Given the description of an element on the screen output the (x, y) to click on. 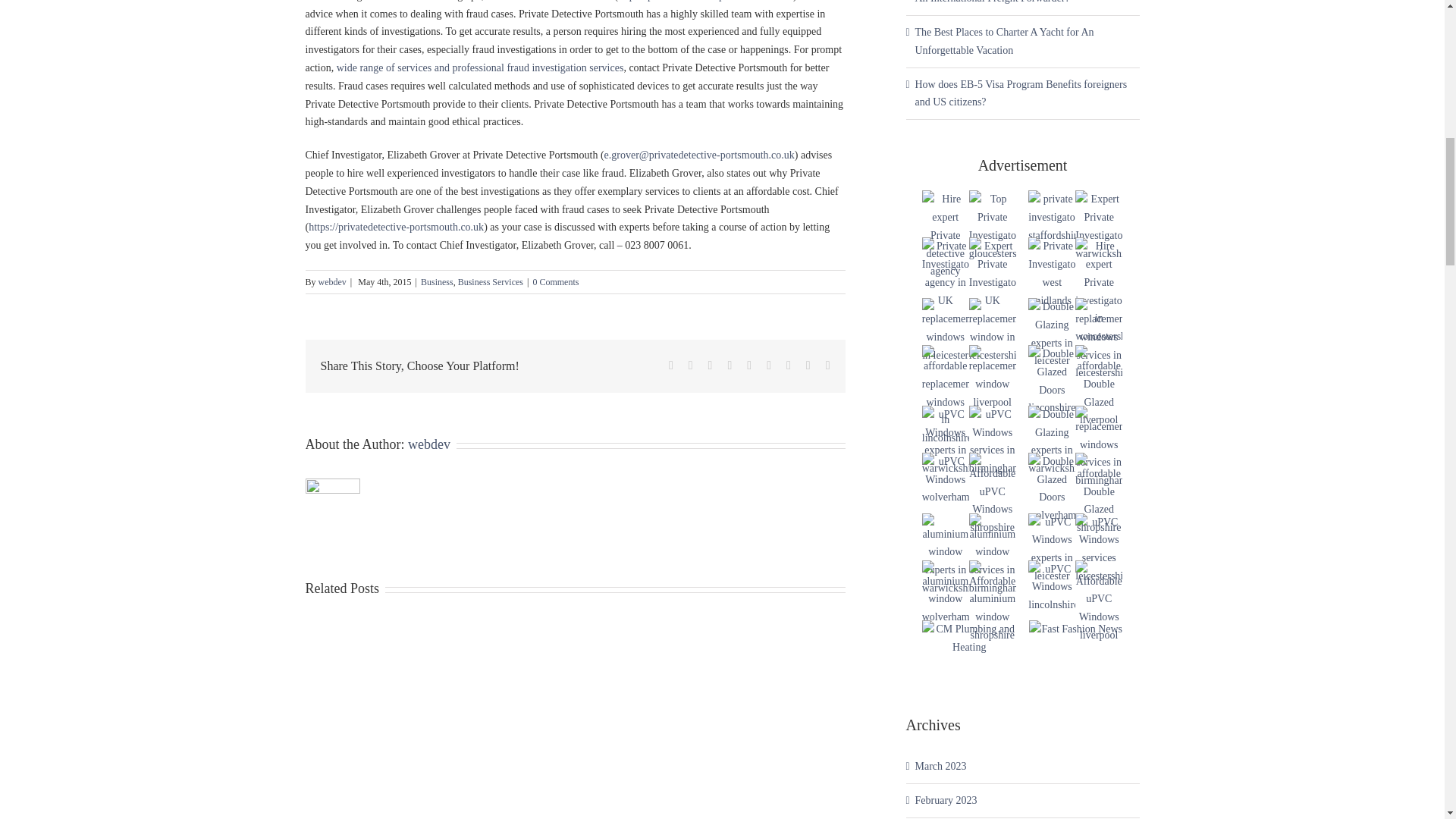
webdev (332, 281)
Posts by webdev (332, 281)
